Given the description of an element on the screen output the (x, y) to click on. 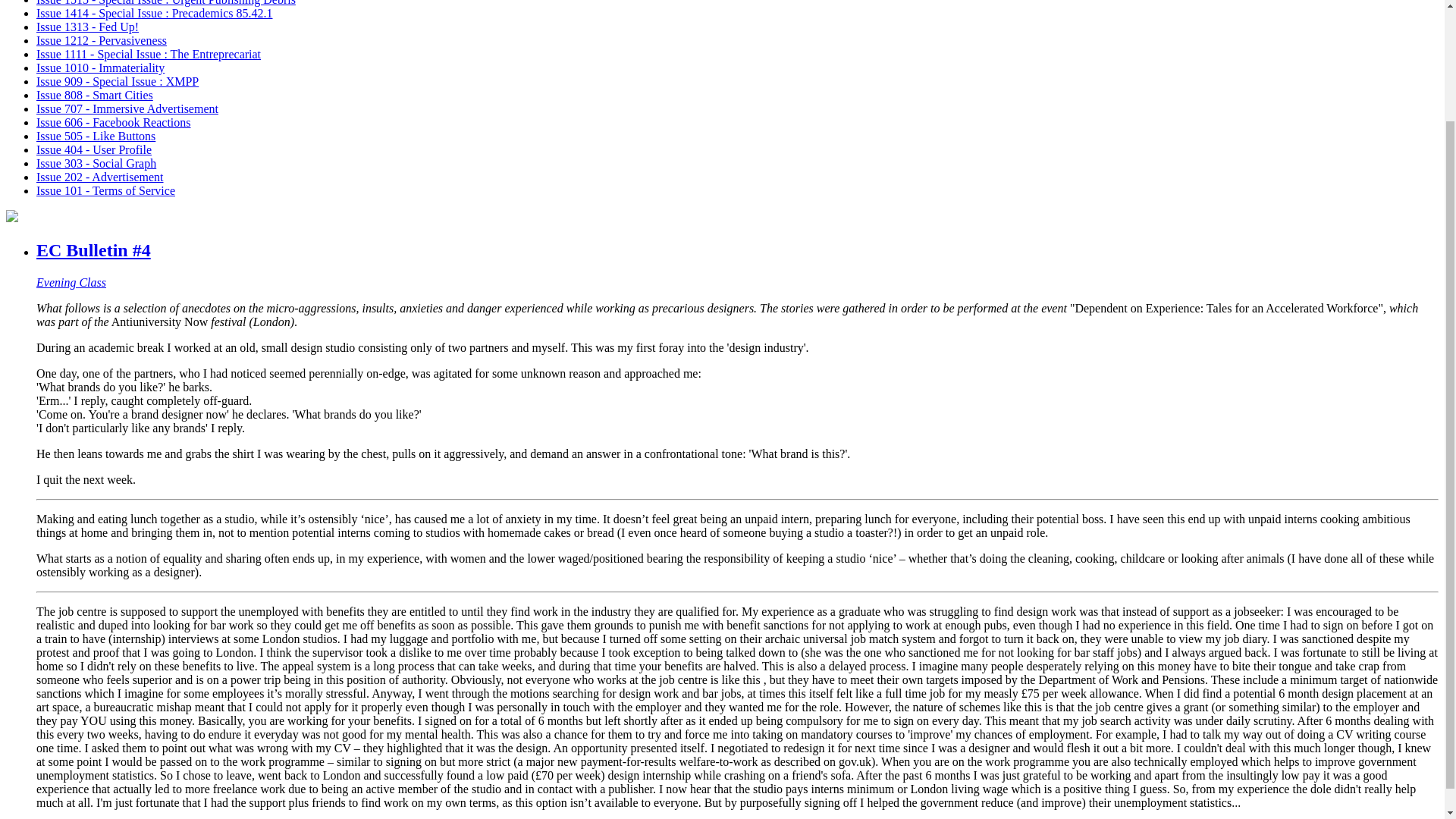
Issue 1010 - Immateriality (100, 67)
Issue 1212 - Pervasiveness (101, 40)
Issue 505 - Like Buttons (95, 135)
Issue 909 - Special Issue : XMPP (117, 81)
Issue 1111 - Special Issue : The Entreprecariat (148, 53)
Issue 101 - Terms of Service (105, 190)
Issue 808 - Smart Cities (94, 94)
Issue 1515 - Special Issue : Urgent Publishing Debris (165, 2)
Issue 202 - Advertisement (99, 176)
Issue 404 - User Profile (93, 149)
